Given the description of an element on the screen output the (x, y) to click on. 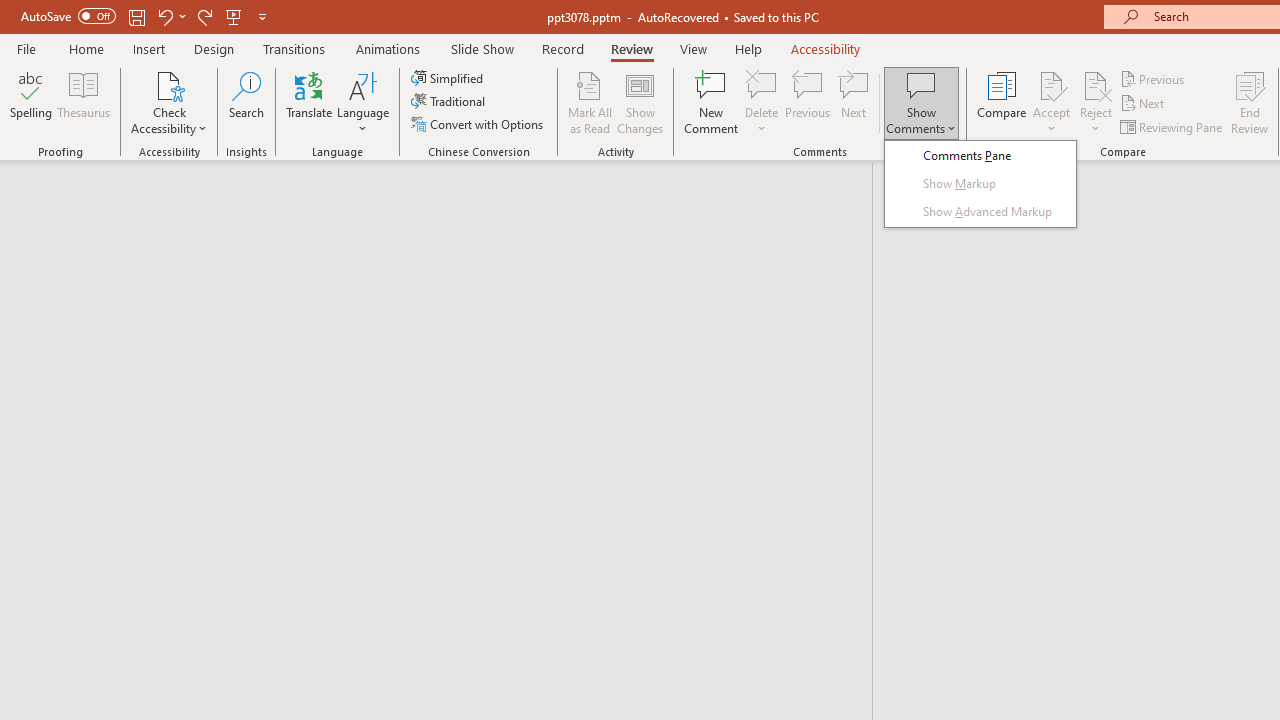
Simplified (449, 78)
Traditional (449, 101)
Translate (309, 102)
Convert with Options... (479, 124)
